Given the description of an element on the screen output the (x, y) to click on. 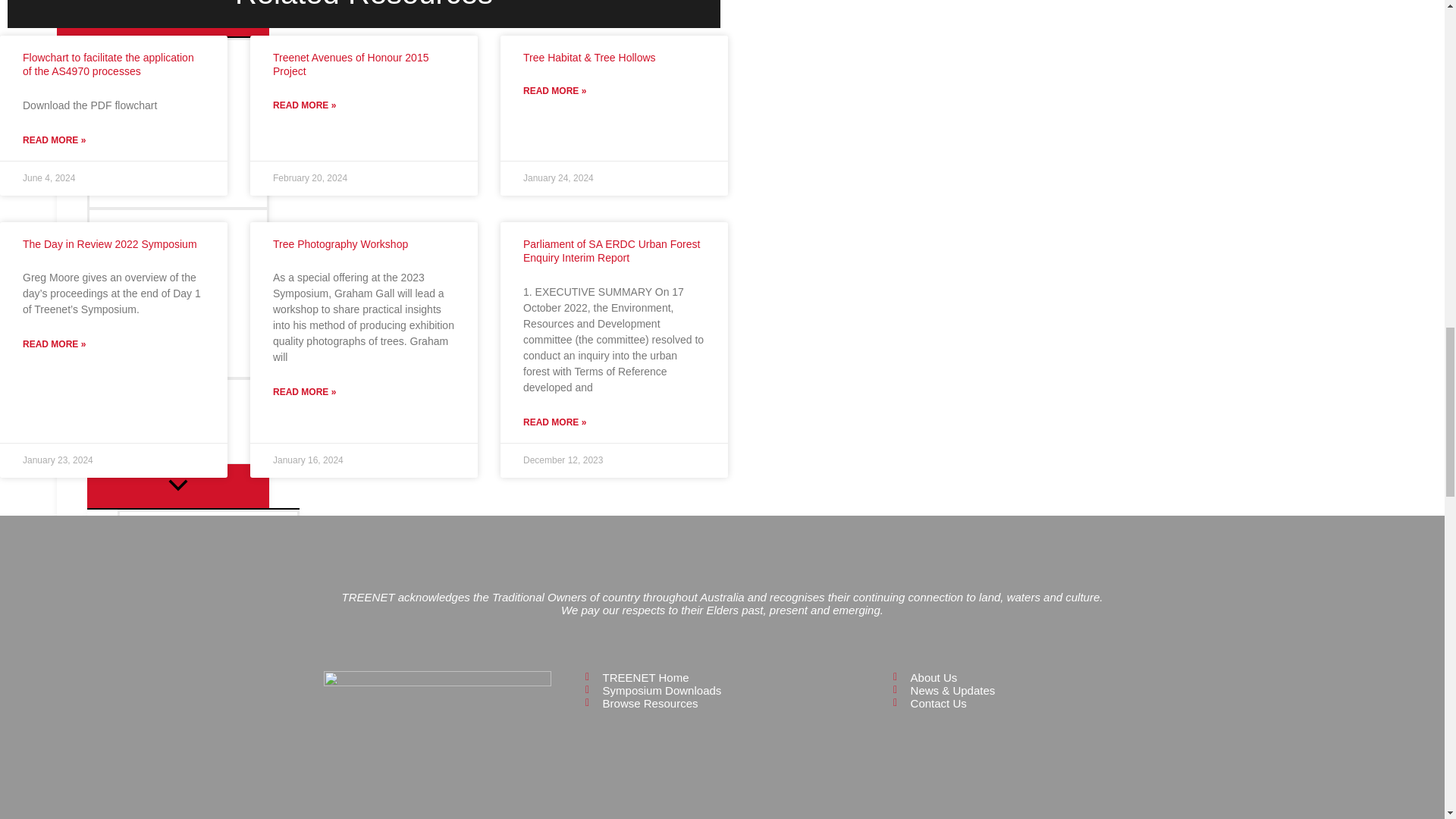
Add Publication (208, 552)
Add New Resource (178, 420)
Add New Case Study (208, 639)
Urban Forest Literature Database (178, 122)
Street Tree Trials Forum Brisbane (178, 292)
MENU TOGGLE (162, 18)
MENU TOGGLE (178, 485)
MENU TOGGLE (162, 787)
Projects (162, 723)
